Given the description of an element on the screen output the (x, y) to click on. 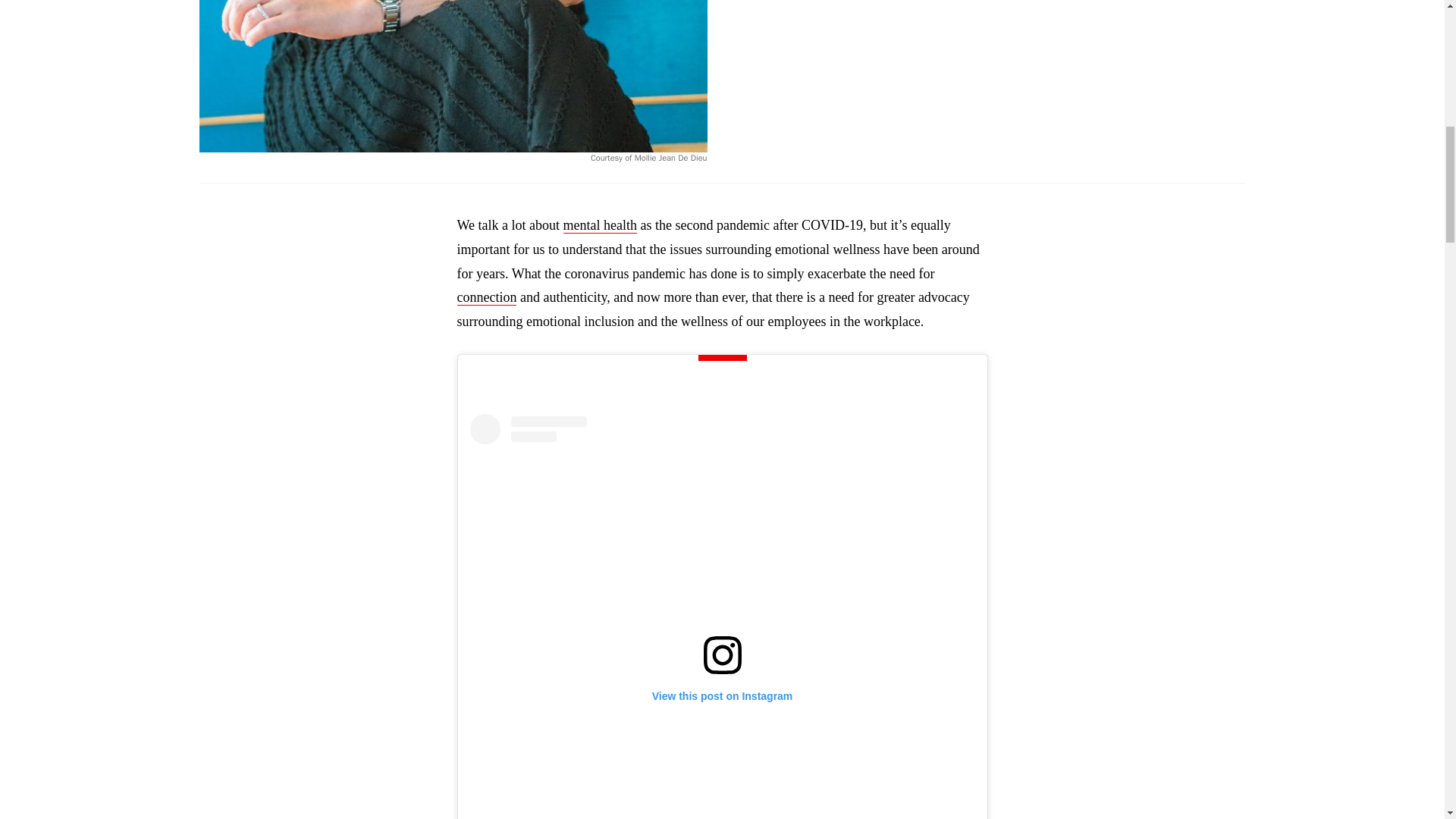
mental health (600, 225)
connection (486, 297)
